Given the description of an element on the screen output the (x, y) to click on. 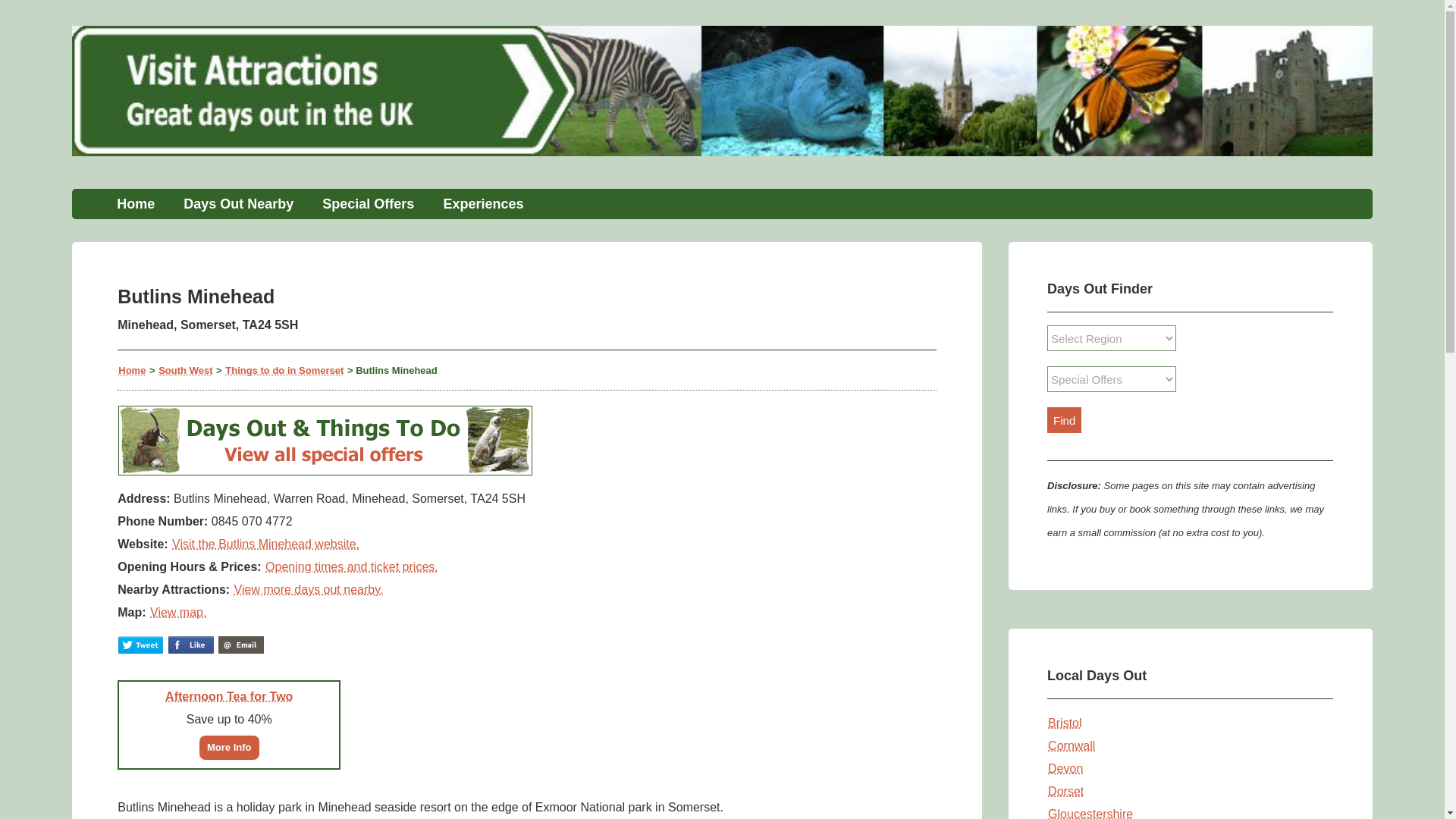
South West (184, 369)
Experiences (482, 204)
Opening times and ticket prices. (351, 565)
Things to do in Somerset (283, 369)
Days Out Nearby (237, 204)
More Info (229, 746)
Find (1063, 420)
Devon (1064, 768)
Visit the Butlins Minehead website. (265, 543)
View more days out nearby. (308, 588)
